Given the description of an element on the screen output the (x, y) to click on. 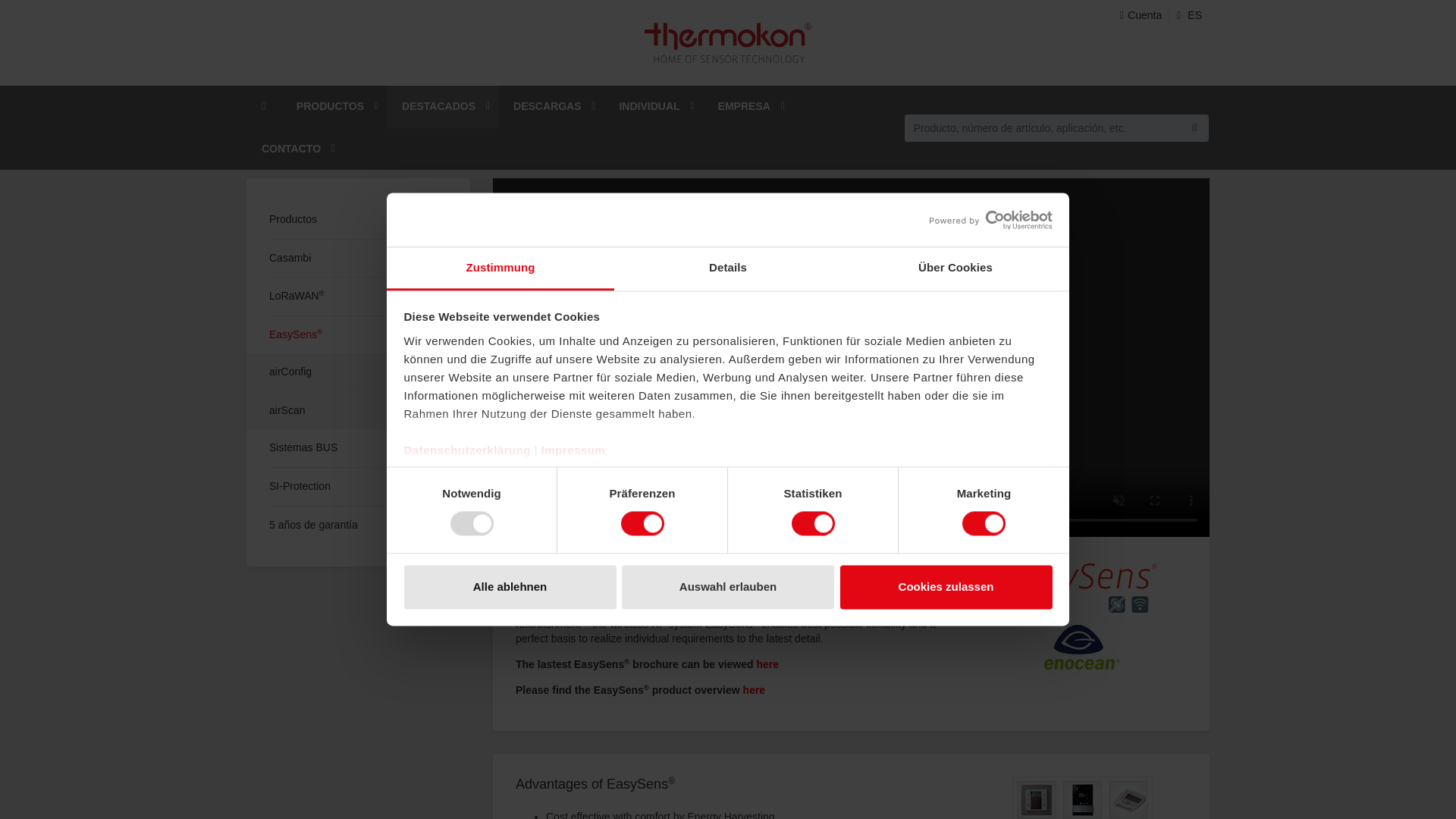
Impressum (573, 449)
Zustimmung (500, 268)
Impressum (573, 449)
Details (727, 268)
